Given the description of an element on the screen output the (x, y) to click on. 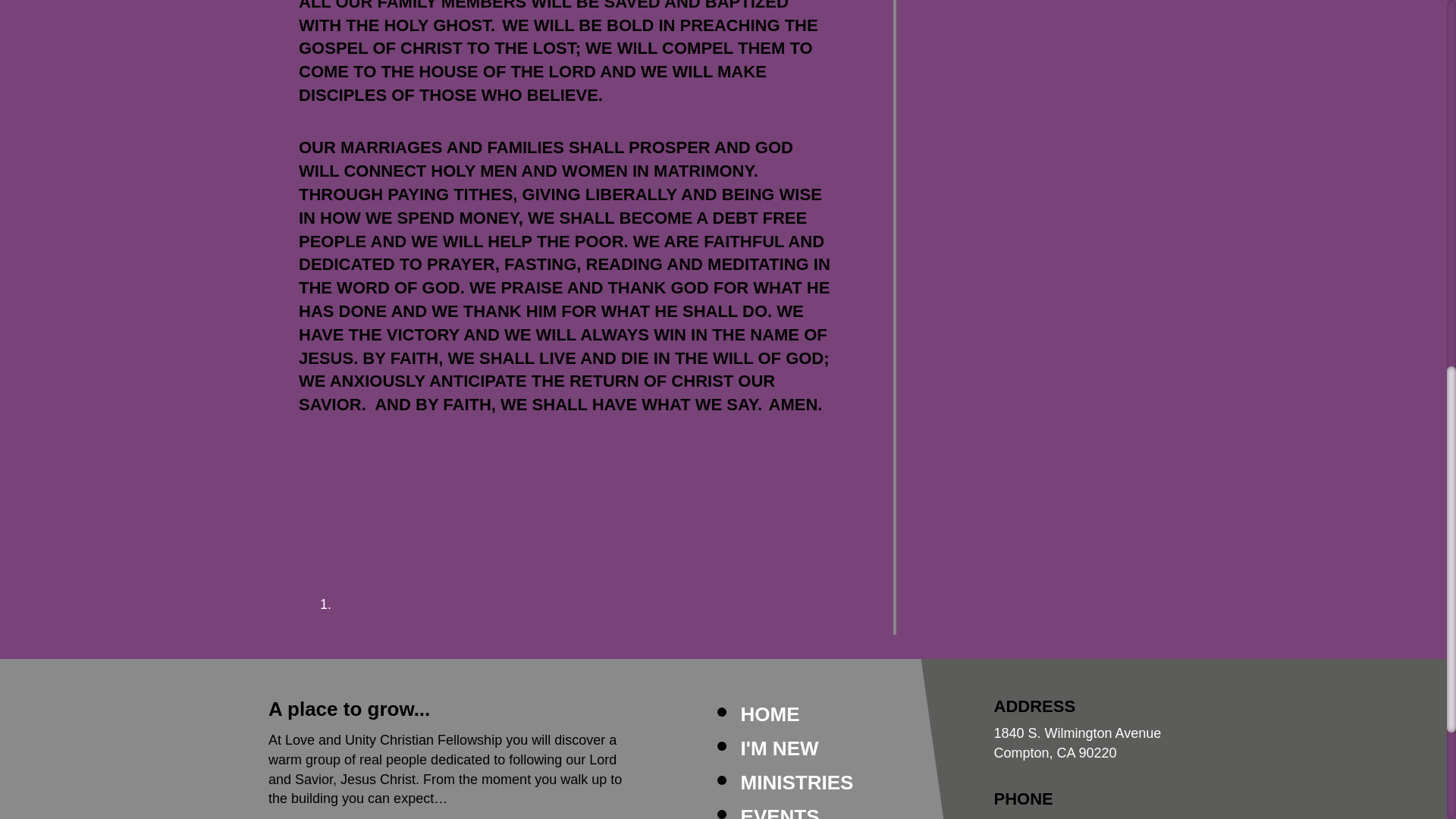
Ministries (797, 782)
I'm New (779, 748)
Events (780, 812)
Home (770, 713)
